Given the description of an element on the screen output the (x, y) to click on. 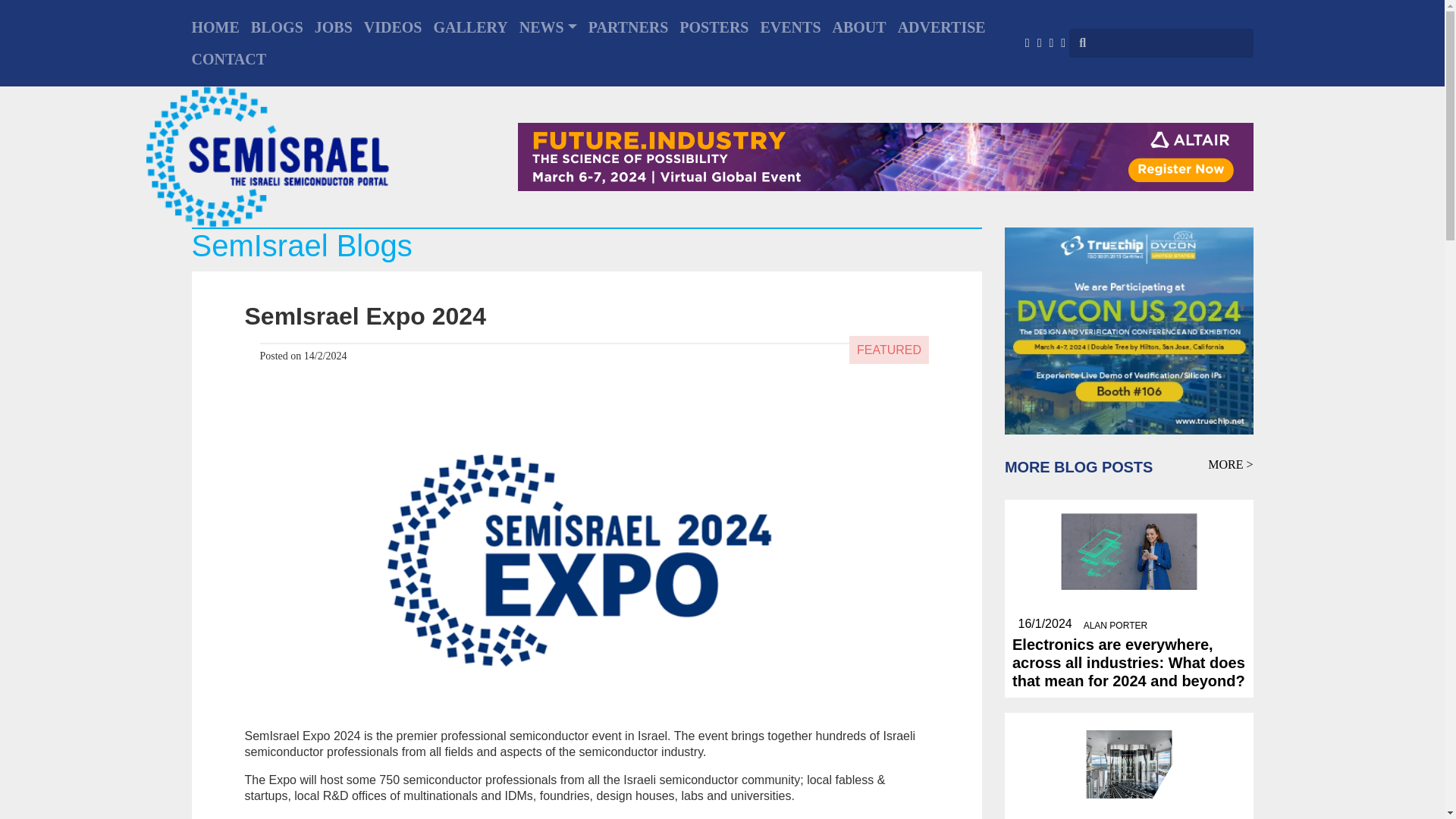
JOBS (333, 27)
VIDEOS (393, 27)
ABOUT (859, 27)
CONTACT (228, 59)
POSTERS (713, 27)
ADVERTISE (941, 27)
HOME (214, 27)
EVENTS (790, 27)
NEWS (547, 27)
PARTNERS (628, 27)
BLOGS (276, 27)
GALLERY (470, 27)
